Given the description of an element on the screen output the (x, y) to click on. 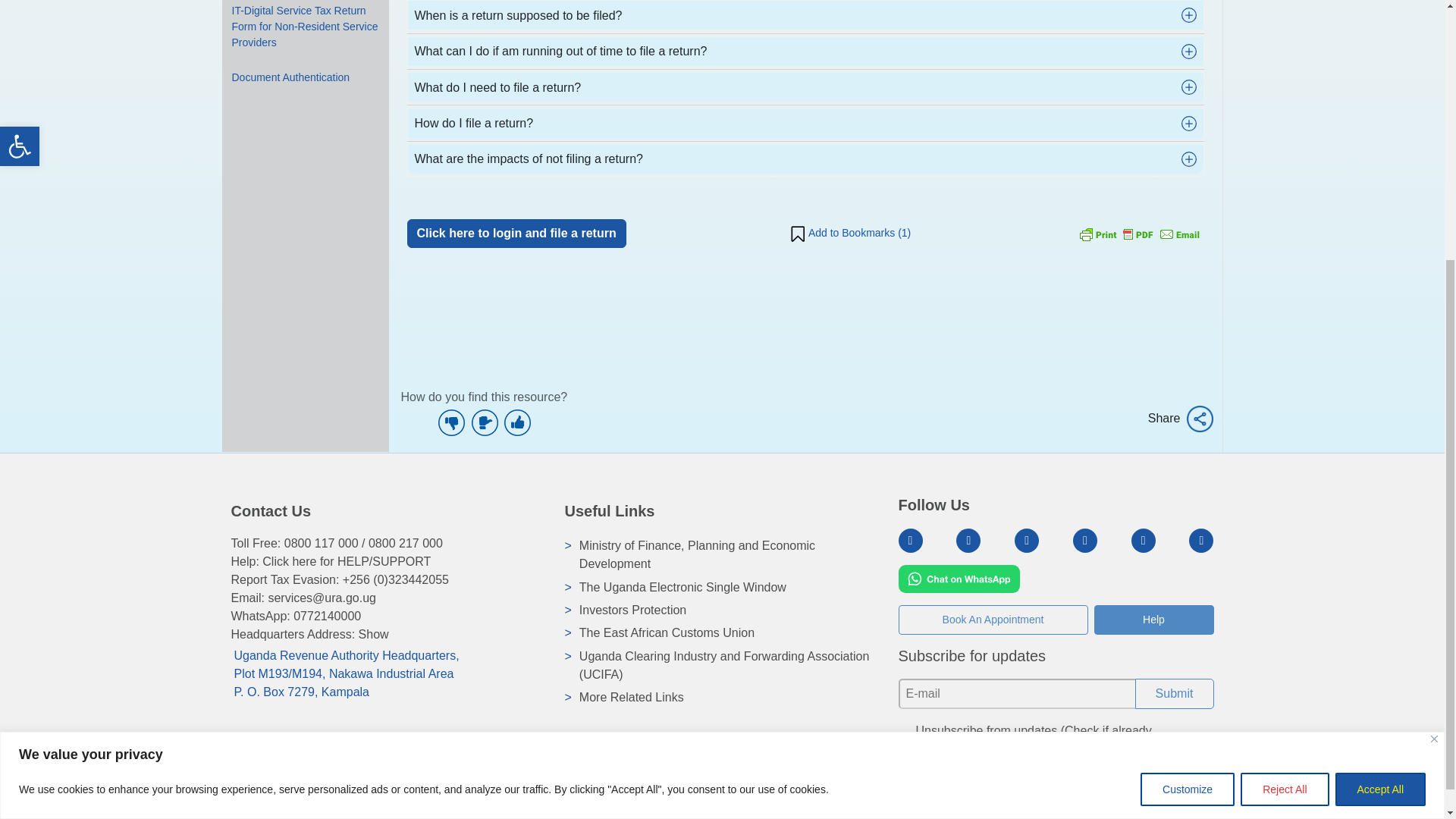
Bookmark This (850, 233)
Submit (1173, 693)
Accept All (1380, 403)
Reject All (1283, 403)
Customize (1187, 403)
